Given the description of an element on the screen output the (x, y) to click on. 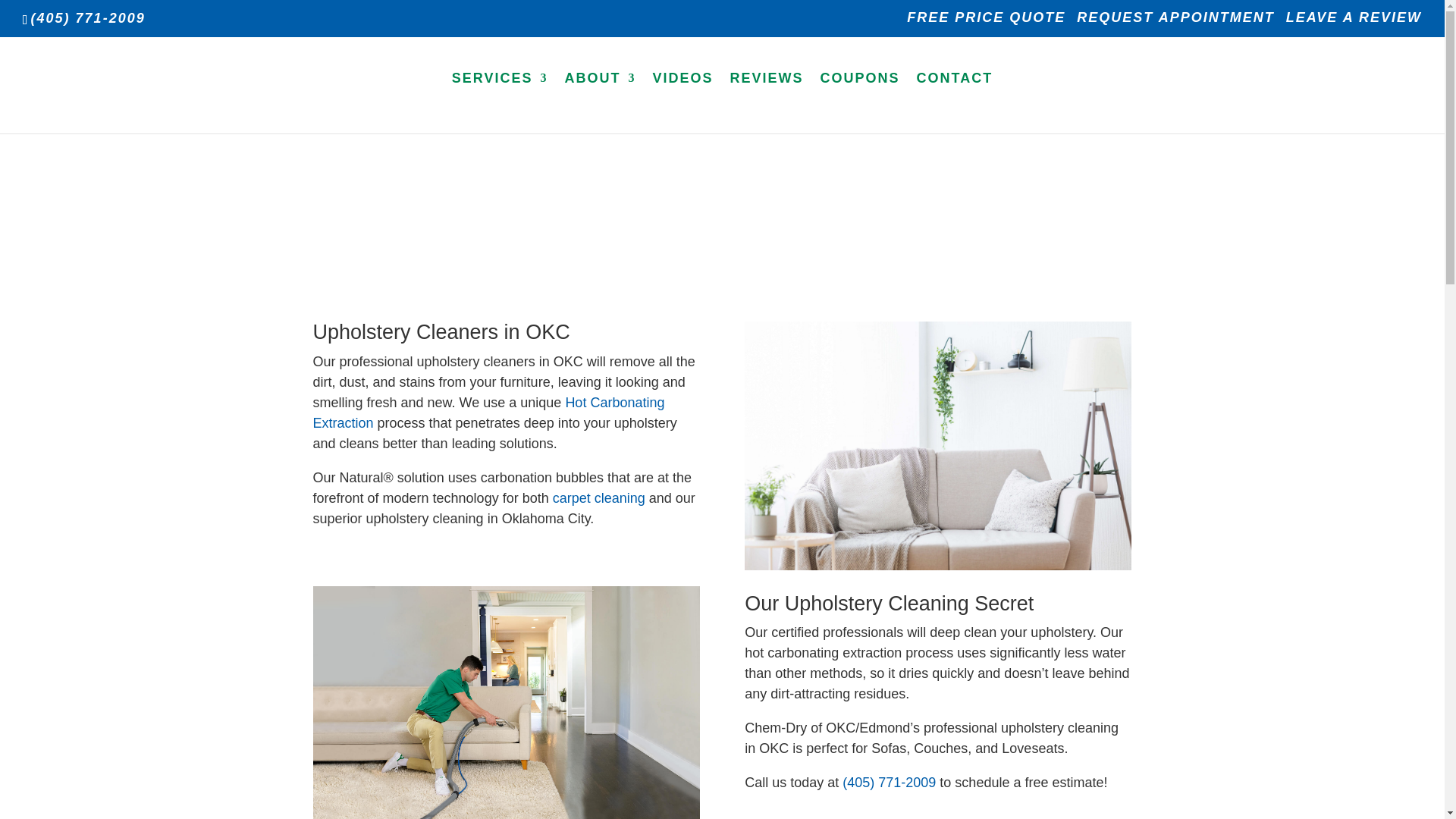
Hot Carbonating Extraction (488, 412)
Carpet Cleaning Coupons (860, 102)
ABOUT (599, 102)
SERVICES (499, 102)
LEAVE A REVIEW (1353, 22)
FREE PRICE QUOTE (986, 22)
Customer Reviews (766, 102)
REVIEWS (766, 102)
carpet cleaning (599, 498)
COUPONS (860, 102)
CONTACT (954, 102)
Contact Us (954, 102)
REQUEST APPOINTMENT (1175, 22)
VIDEOS (682, 102)
